Given the description of an element on the screen output the (x, y) to click on. 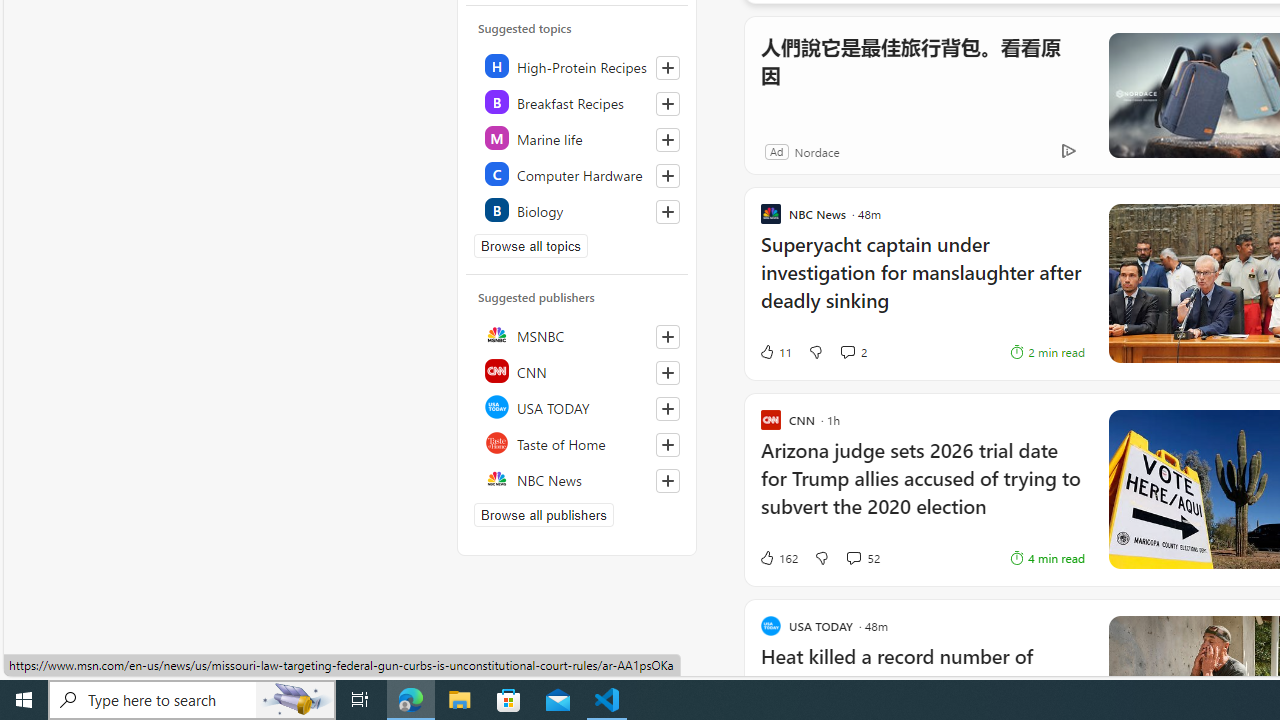
NBC News (578, 478)
Browse all topics (530, 245)
MSNBC (578, 334)
Heat killed a record number of Americans last year (922, 681)
View comments 52 Comment (852, 557)
View comments 52 Comment (862, 557)
